Given the description of an element on the screen output the (x, y) to click on. 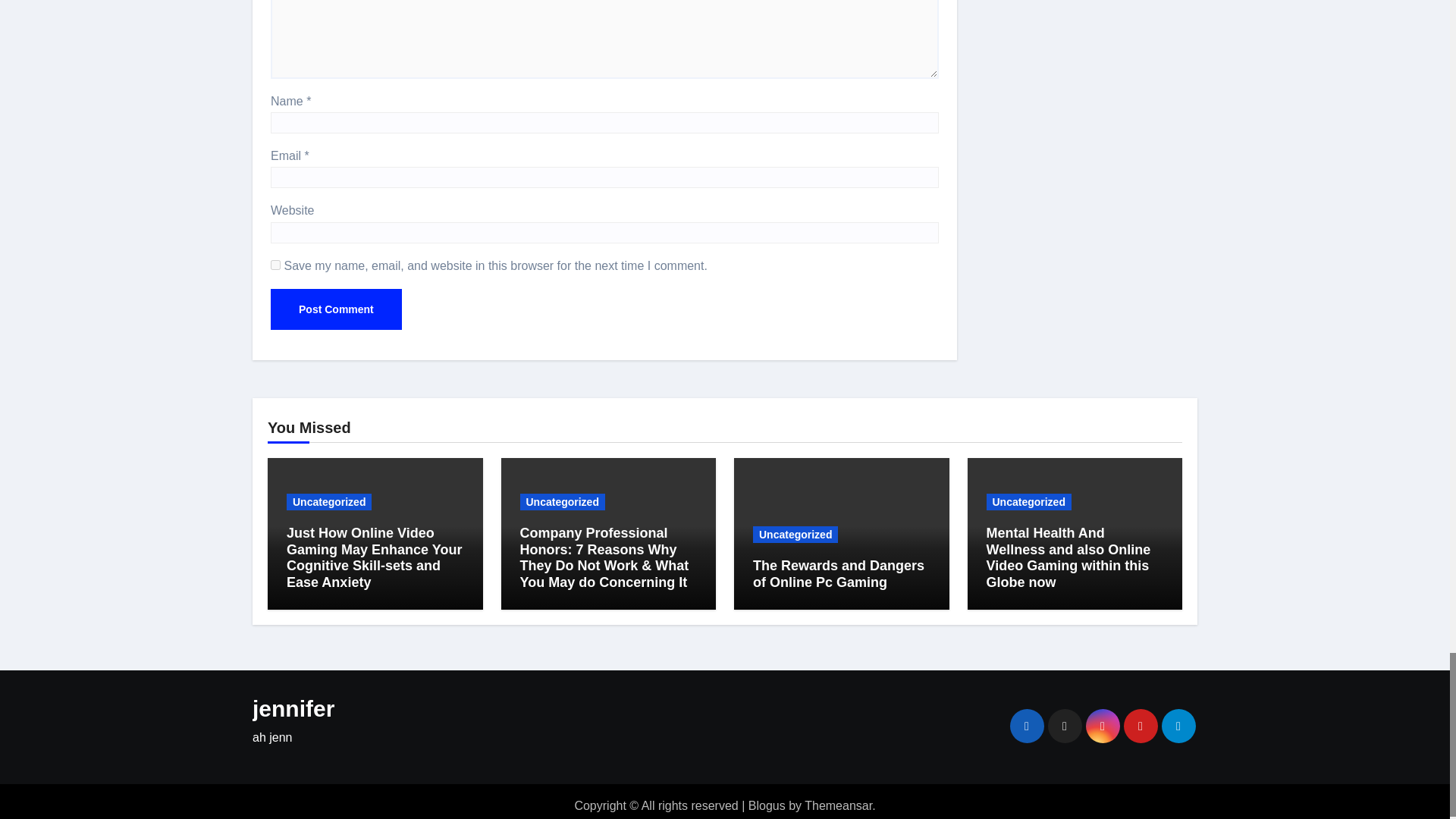
yes (275, 265)
Permalink to: The Rewards and Dangers of Online Pc Gaming (838, 573)
Post Comment (335, 309)
